Given the description of an element on the screen output the (x, y) to click on. 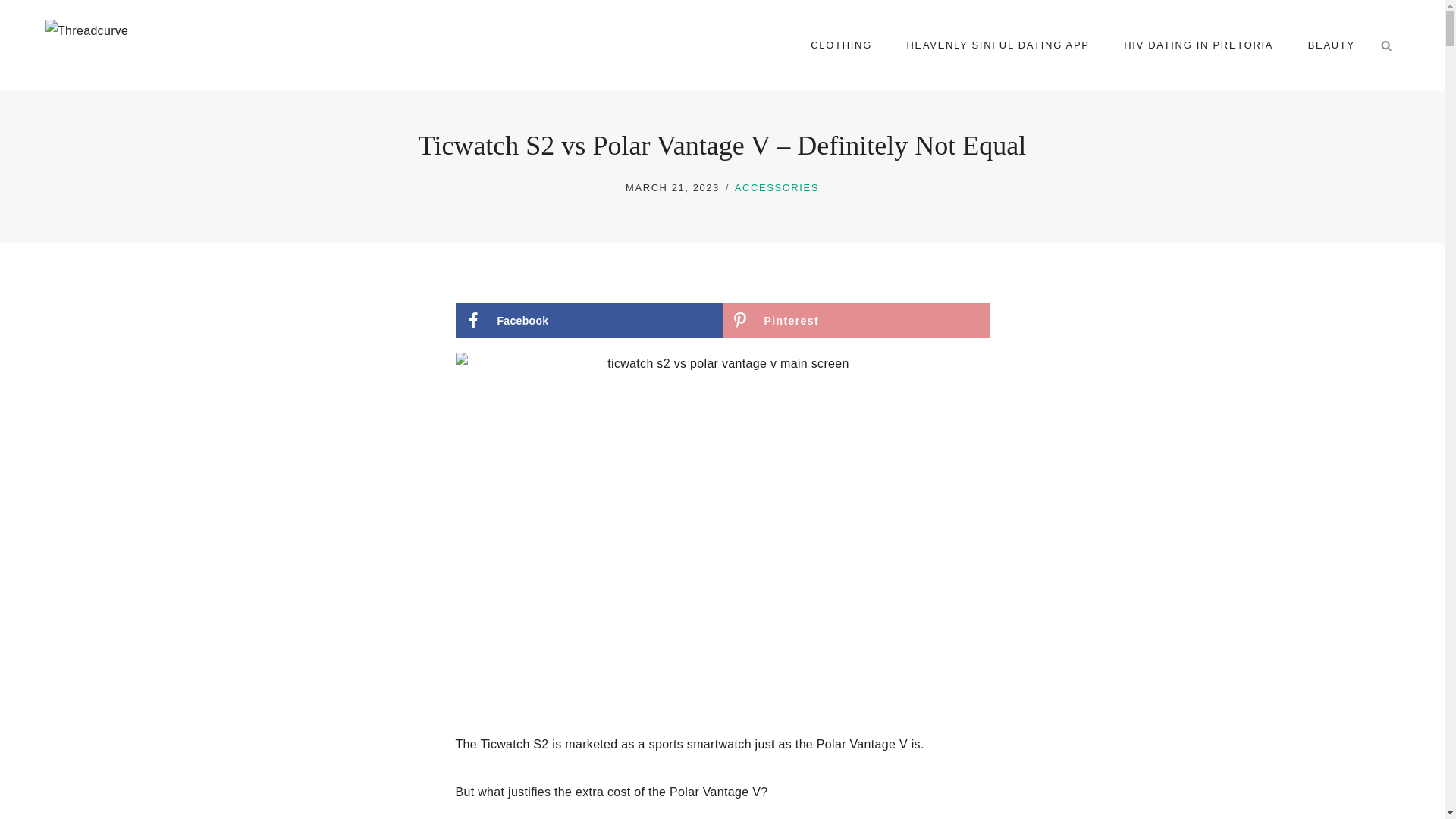
ACCESSORIES (776, 187)
CLOTHING (841, 45)
BEAUTY (1331, 45)
Save to Pinterest (855, 320)
Share on Facebook (588, 320)
Facebook (588, 320)
Pinterest (855, 320)
HIV DATING IN PRETORIA (1198, 45)
HEAVENLY SINFUL DATING APP (997, 45)
